Given the description of an element on the screen output the (x, y) to click on. 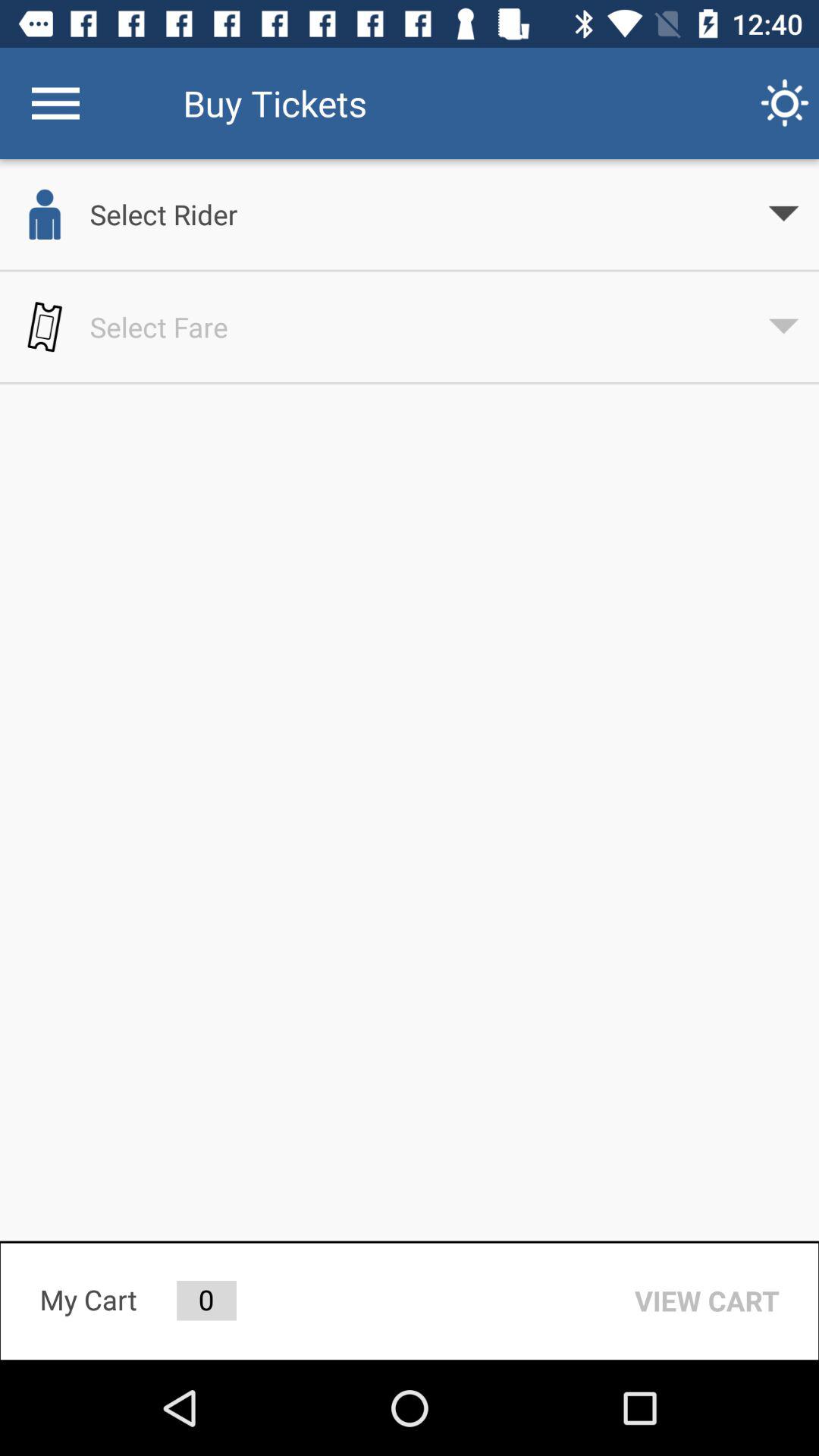
open the item to the right of 0 (706, 1300)
